Given the description of an element on the screen output the (x, y) to click on. 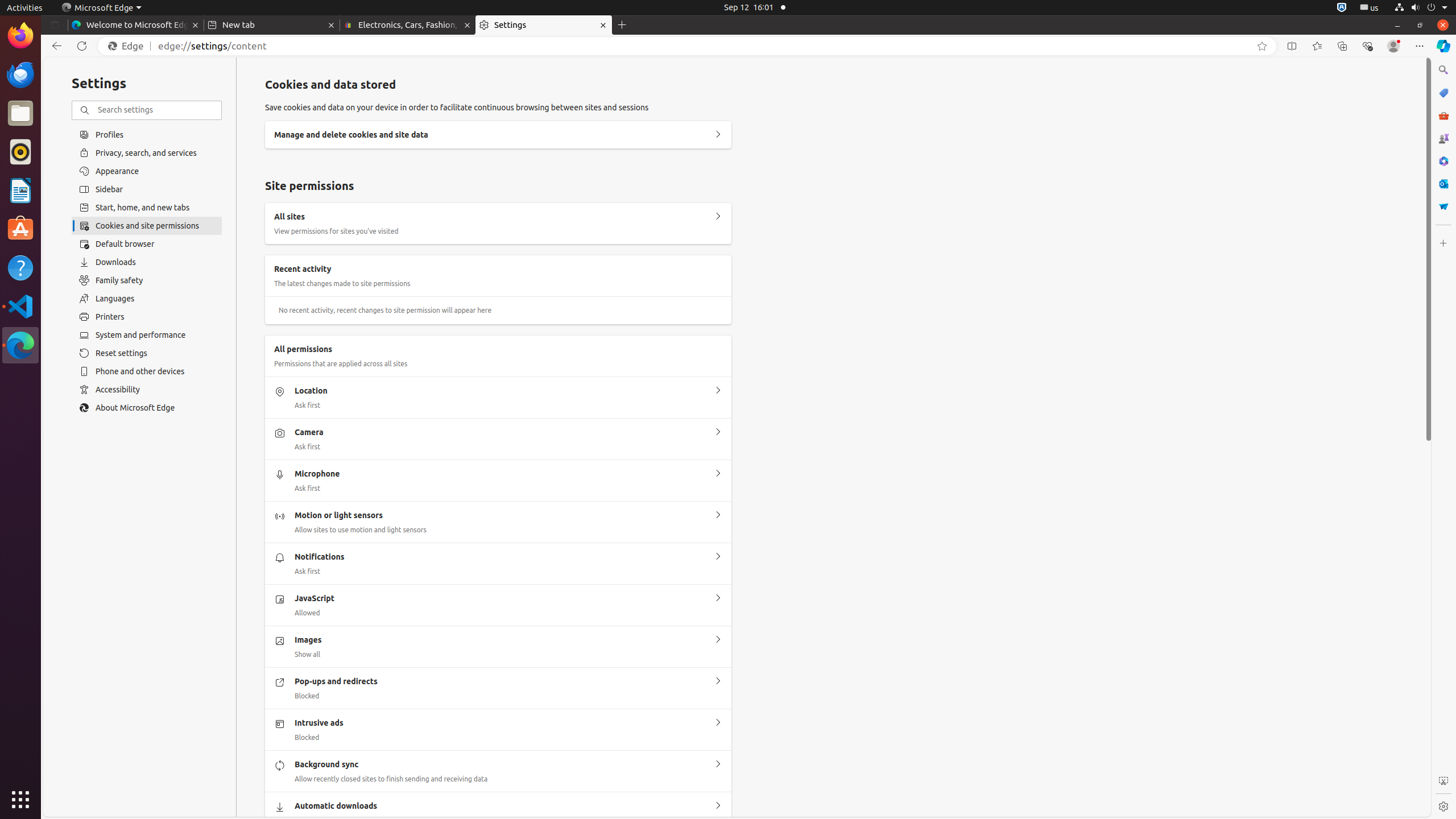
Microsoft Edge Element type: push-button (20, 344)
Reset settings Element type: tree-item (146, 353)
New Tab Element type: push-button (622, 25)
Sidebar Element type: tree-item (146, 189)
Games Element type: push-button (1443, 137)
